Given the description of an element on the screen output the (x, y) to click on. 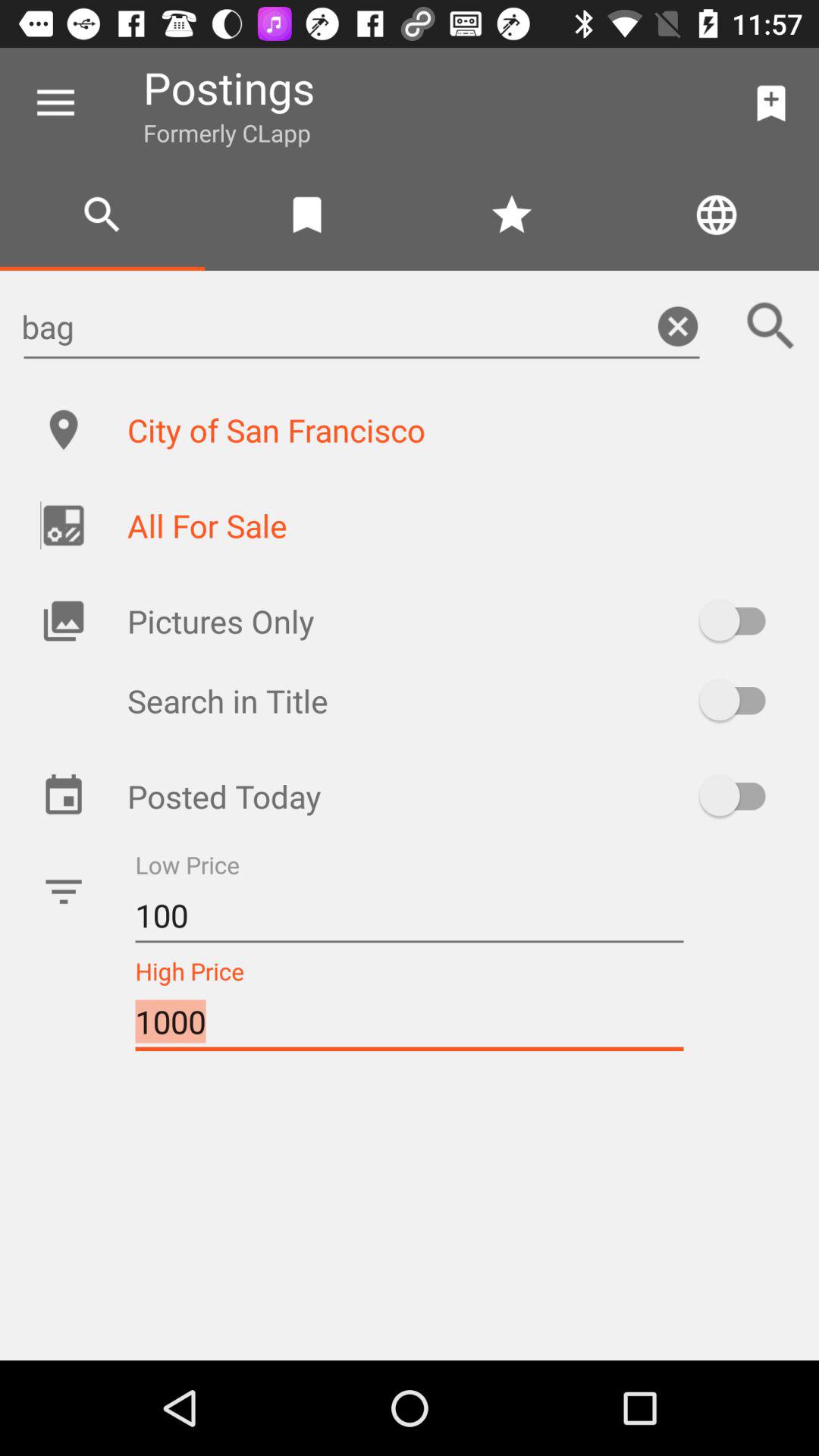
find what was posted today (739, 795)
